Given the description of an element on the screen output the (x, y) to click on. 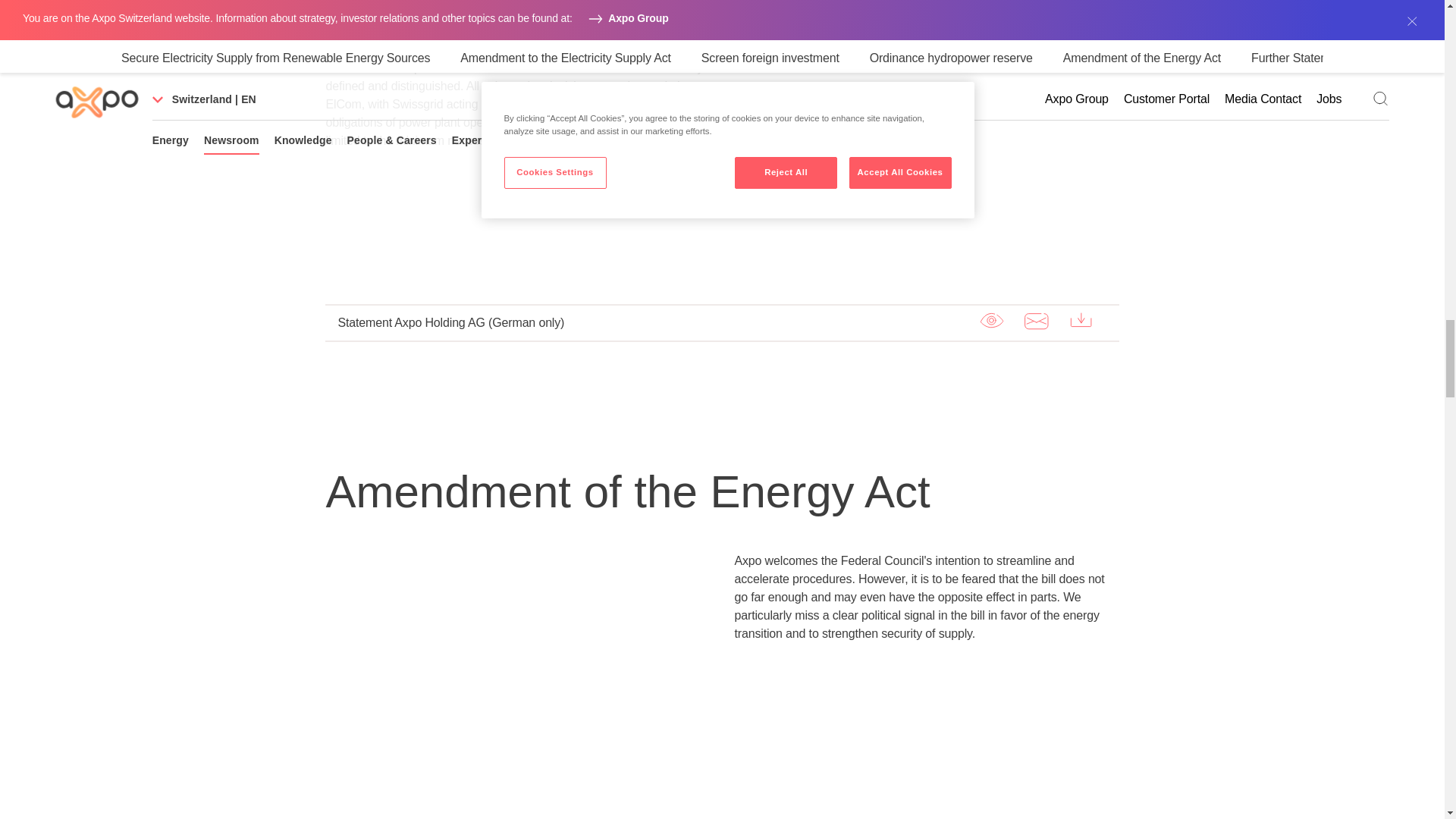
Send email (1036, 320)
